Given the description of an element on the screen output the (x, y) to click on. 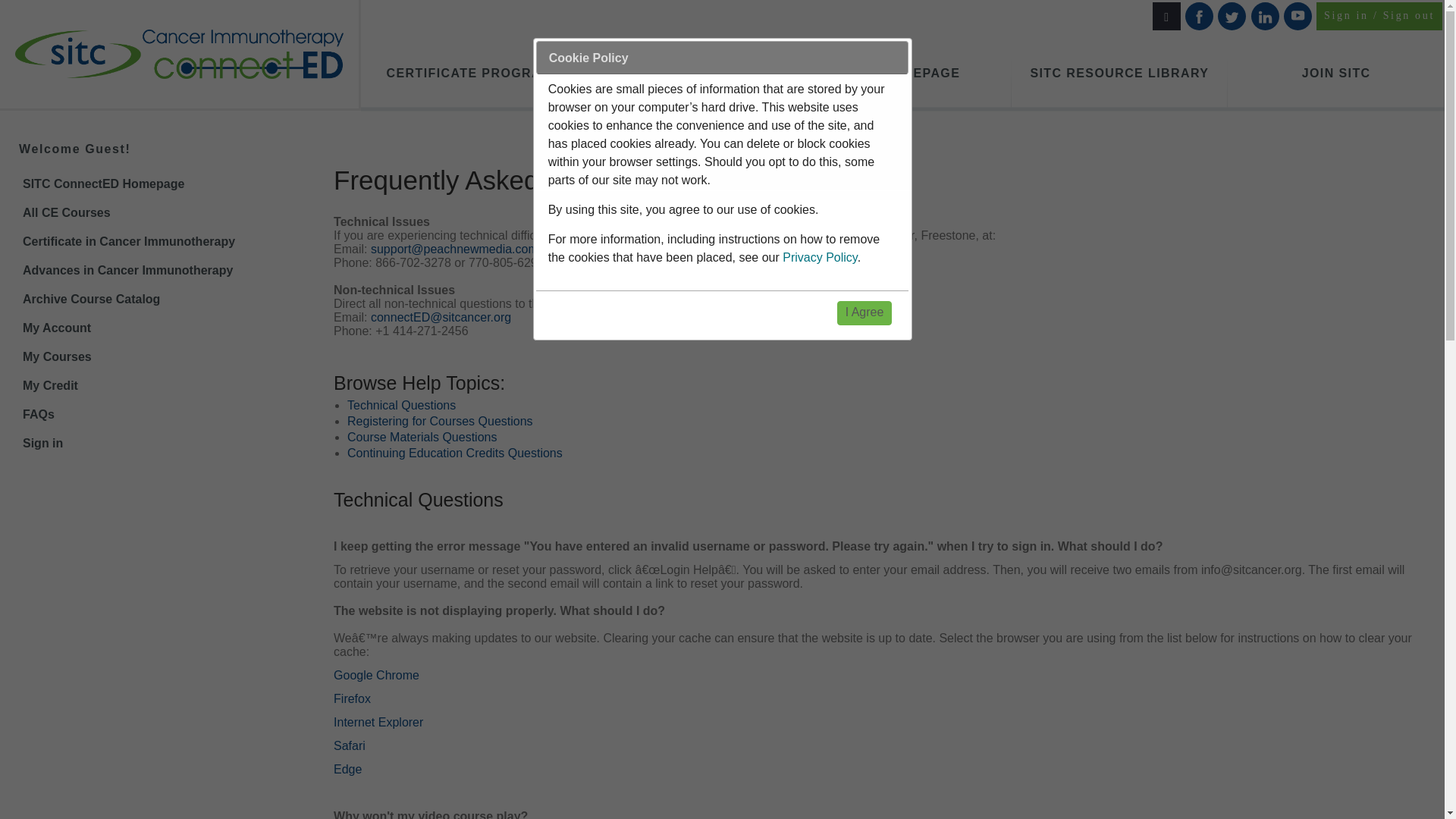
Internet Explorer (378, 721)
CERTIFICATE PROGRAM (469, 74)
All CE Courses (150, 213)
Advances in Cancer Immunotherapy (150, 270)
Edge (347, 768)
My Account (150, 328)
Technical Questions (401, 404)
CE COURSE CATALOG (686, 74)
My Courses (150, 357)
Course Materials Questions (421, 436)
SITC ConnectED Homepage (150, 184)
Certificate in Cancer Immunotherapy (150, 241)
SITC RESOURCE LIBRARY (1119, 74)
Continuing Education Credits Questions (454, 452)
My Credit (150, 385)
